Given the description of an element on the screen output the (x, y) to click on. 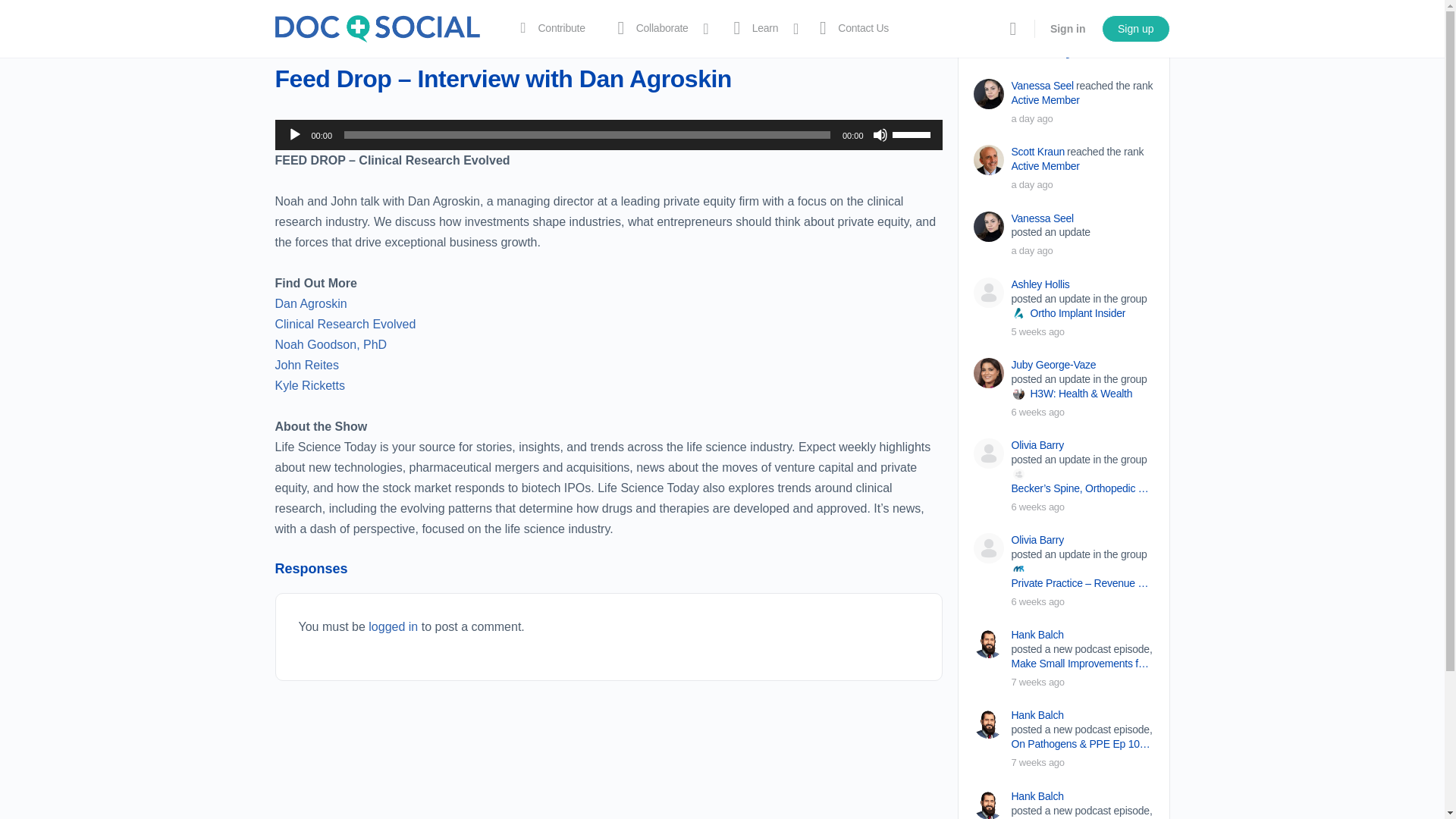
Mute (879, 134)
logged in (392, 626)
Back to Life Science Today (344, 34)
Clinical Research Evolved (344, 323)
Contribute (549, 28)
Dan Agroskin (310, 303)
Play (293, 134)
Noah Goodson, PhD (331, 344)
Sign in (1067, 28)
Sign up (1135, 28)
John Reites (307, 364)
Learn (759, 28)
Kyle Ricketts (309, 385)
Collaborate (656, 28)
Contact Us (851, 28)
